Given the description of an element on the screen output the (x, y) to click on. 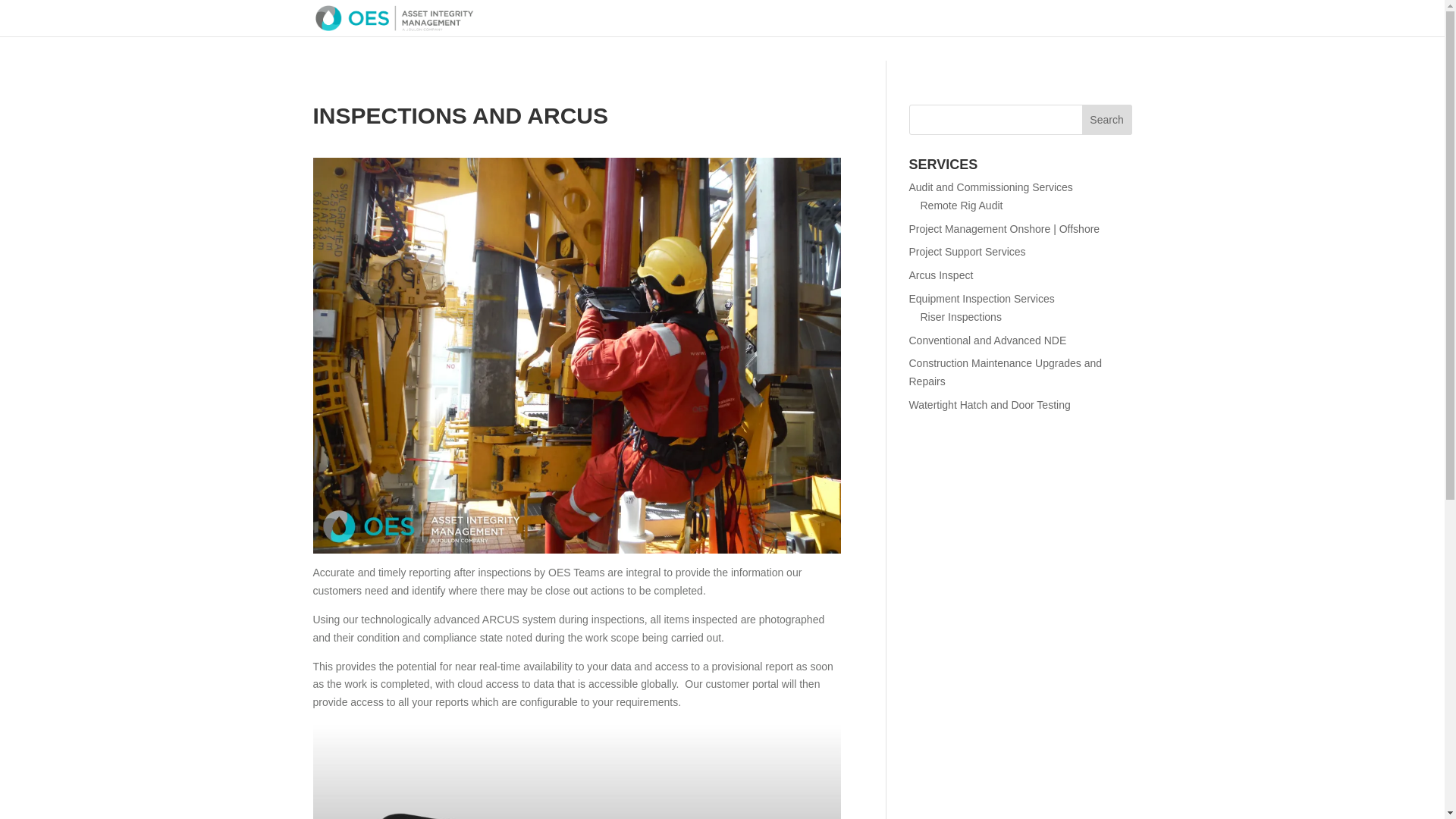
Riser Inspections (960, 316)
Search (1106, 119)
Project Support Services (966, 251)
Arcus Inspect (940, 275)
Conventional and Advanced NDE (986, 340)
Equipment Inspection Services (981, 298)
Search (1106, 119)
Audit and Commissioning Services (989, 186)
Remote Rig Audit (961, 205)
